Given the description of an element on the screen output the (x, y) to click on. 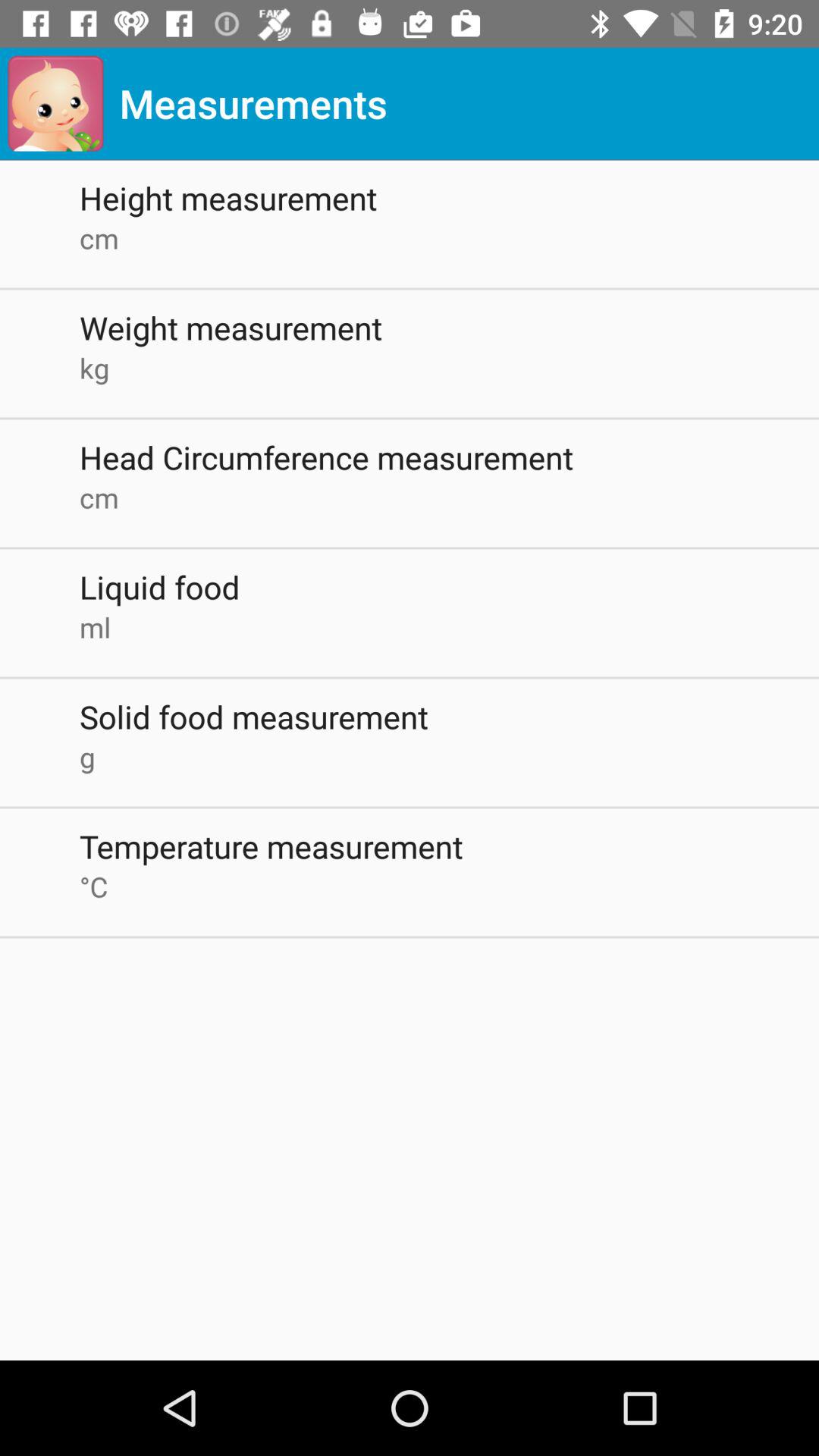
select icon below kg icon (449, 456)
